Given the description of an element on the screen output the (x, y) to click on. 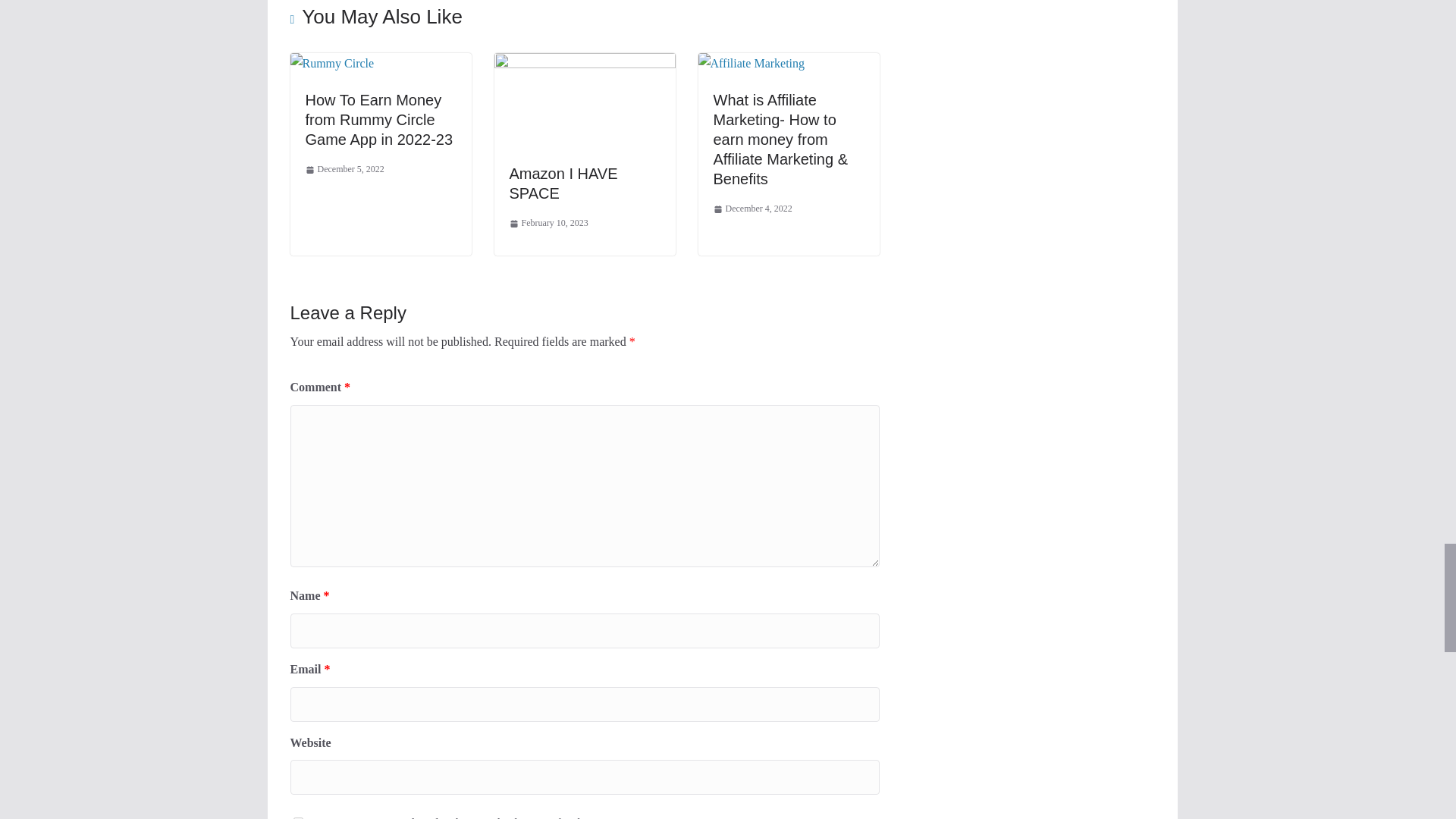
Amazon I HAVE SPACE (585, 62)
11:18 am (548, 223)
How To Earn Money from Rummy Circle Game App in 2022-23 (331, 62)
How To Earn Money from Rummy Circle Game App in 2022-23 (378, 119)
6:44 pm (344, 169)
Amazon I HAVE SPACE (563, 183)
